Given the description of an element on the screen output the (x, y) to click on. 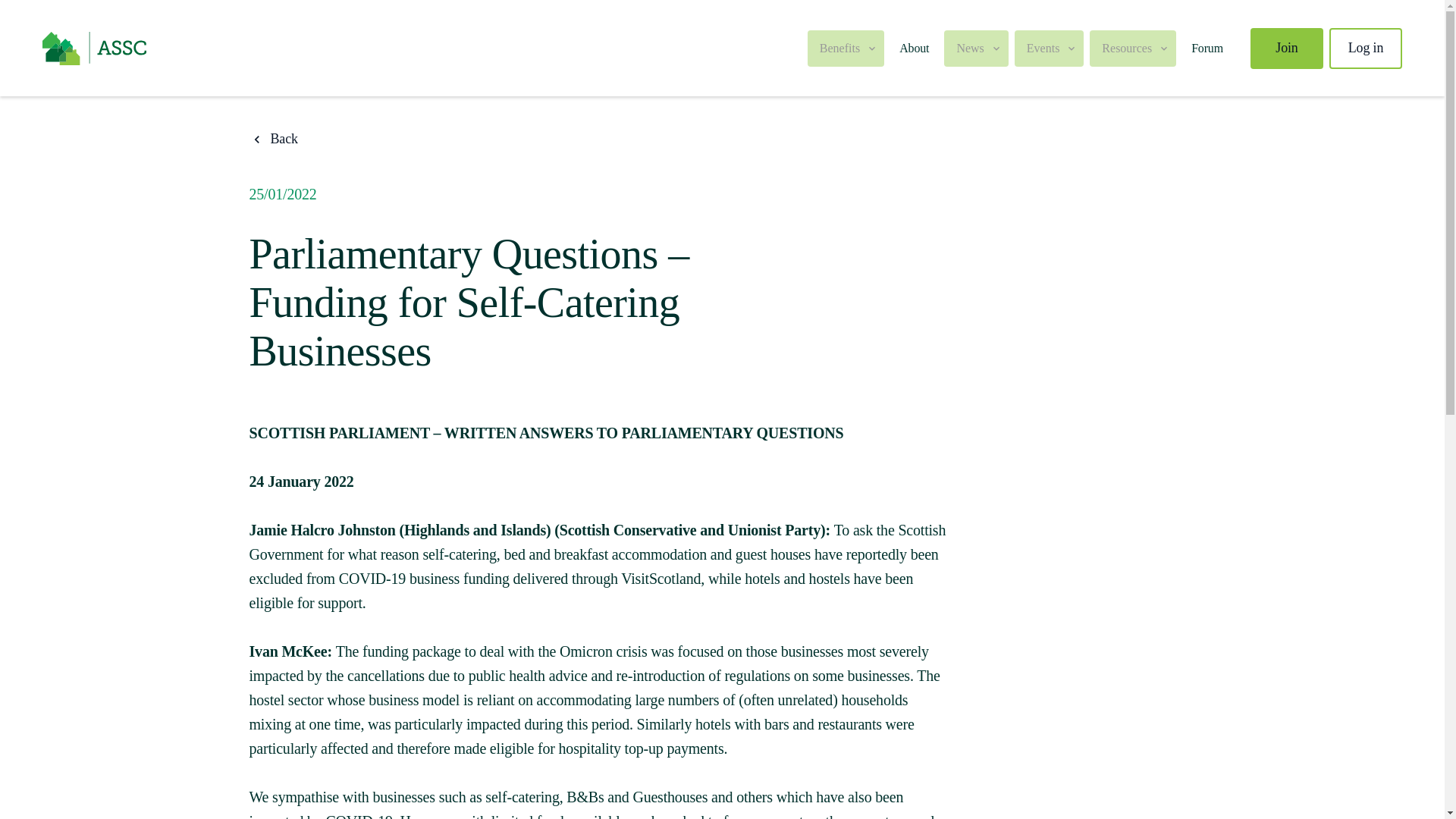
News (975, 48)
Log in (1365, 47)
Benefits (845, 48)
Forum (1206, 47)
Events (1049, 48)
About (913, 47)
Join (1286, 47)
Resources (1132, 48)
